Given the description of an element on the screen output the (x, y) to click on. 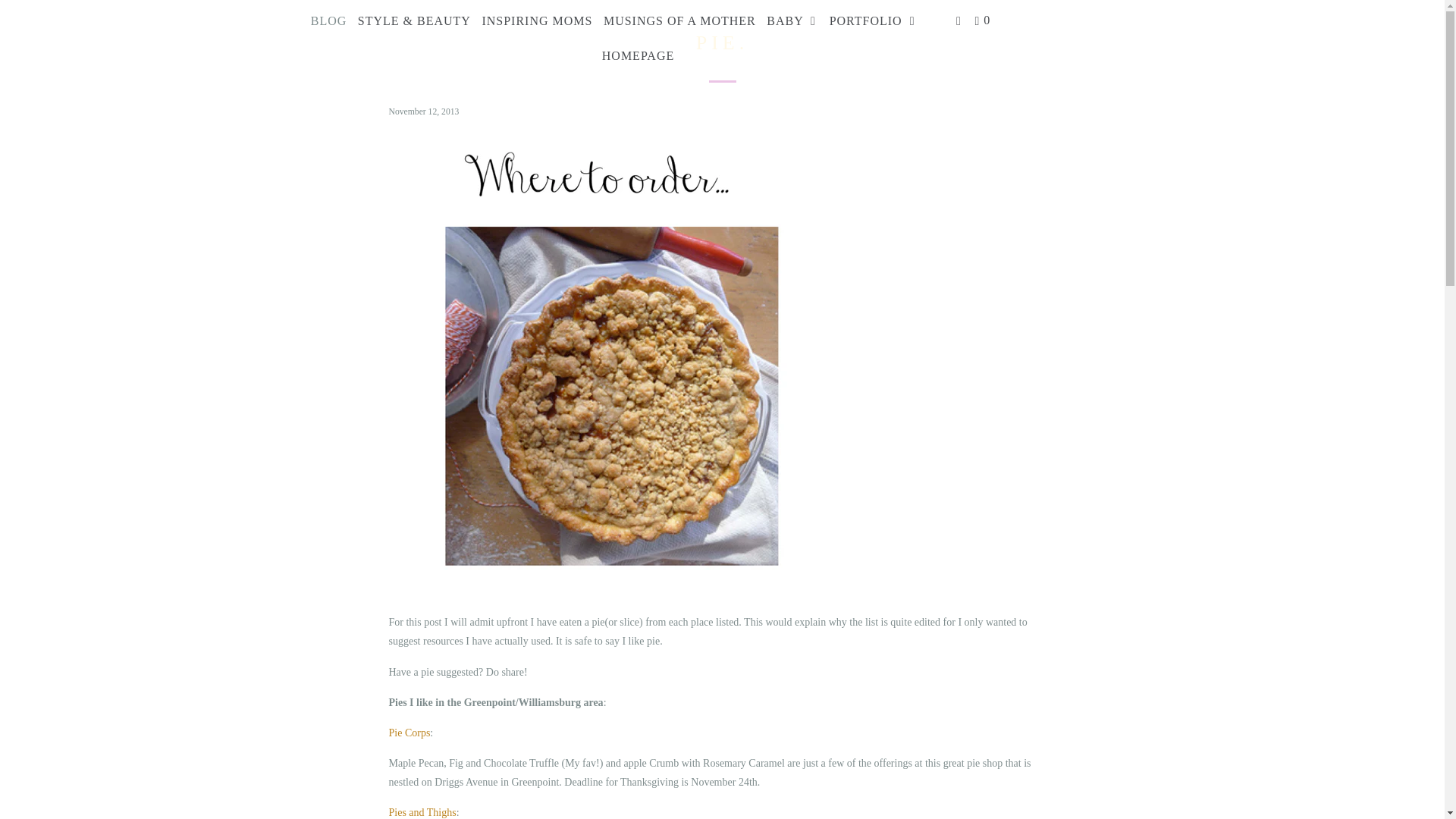
Pie Corps (408, 732)
MUSINGS OF A MOTHER (678, 21)
PORTFOLIO   (873, 21)
0 (983, 21)
Pies and Thighs (421, 812)
BABY   (791, 21)
BLOG (328, 21)
INSPIRING MOMS (537, 21)
HOMEPAGE (637, 55)
